Given the description of an element on the screen output the (x, y) to click on. 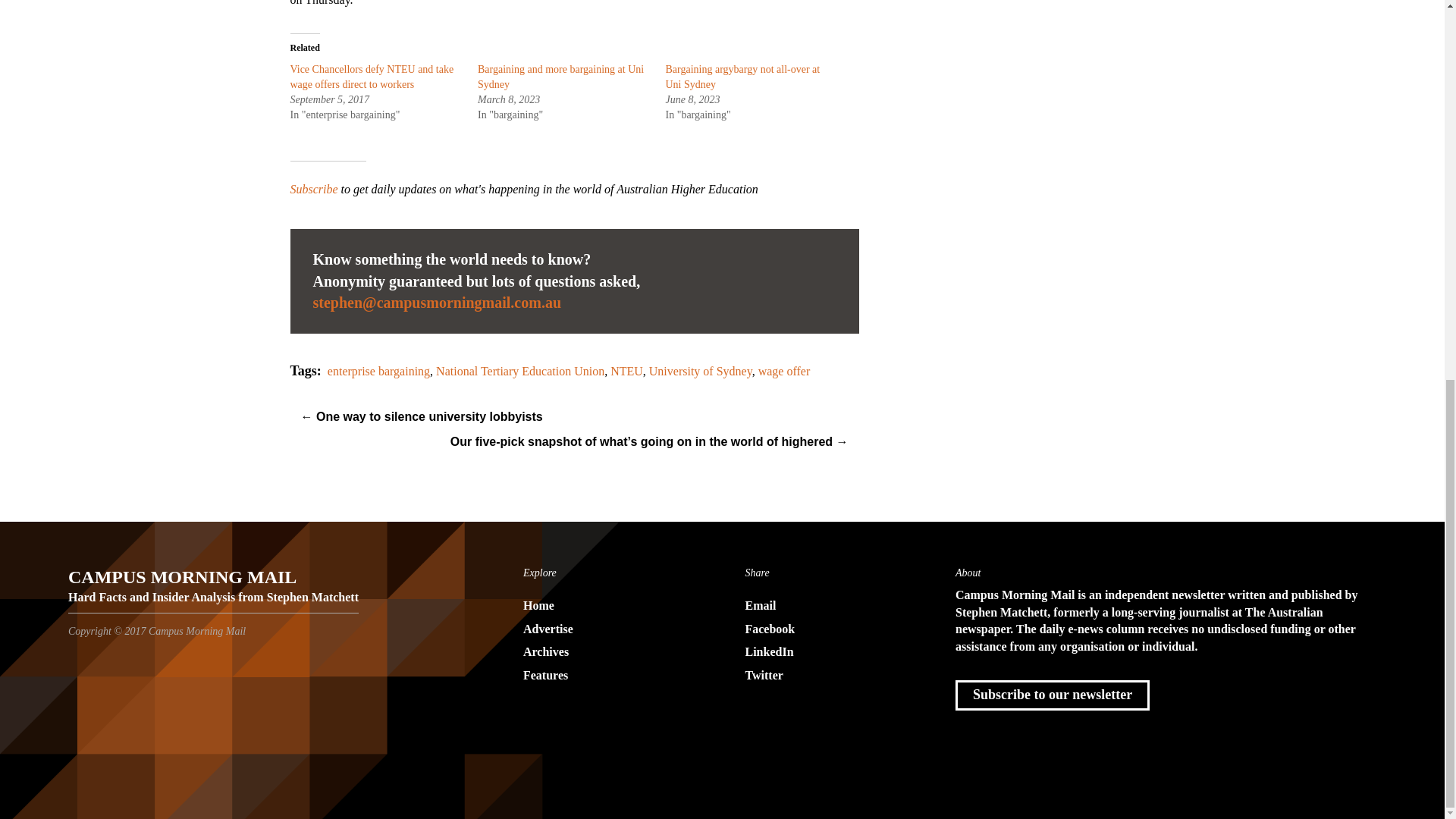
wage offer (784, 370)
Campus Morning Mail (213, 582)
Facebook (833, 629)
Home (611, 606)
Bargaining and more bargaining at Uni Sydney (560, 76)
Advertise (611, 629)
Email (833, 606)
University of Sydney (700, 370)
Advertise (611, 629)
